Given the description of an element on the screen output the (x, y) to click on. 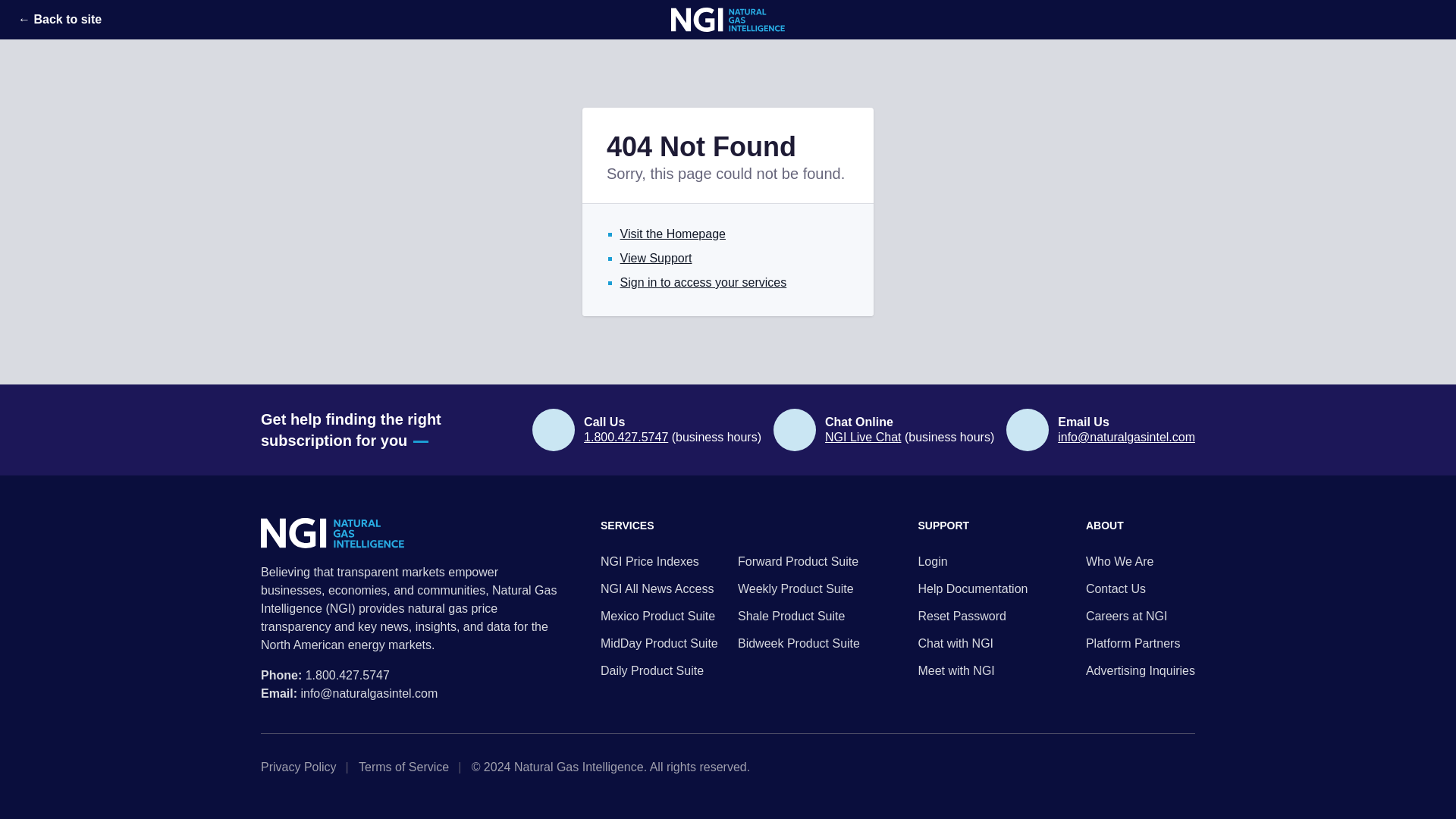
Forward Product Suite (799, 561)
Visit the Homepage (672, 233)
NGI Live Chat (863, 436)
X (1140, 766)
NGI Price Indexes (660, 561)
LinkedIn (1164, 766)
1.800.427.5747 (625, 436)
Facebook (1188, 766)
MidDay Product Suite (660, 643)
Bidweek Product Suite (799, 643)
Reset Password (972, 616)
Chat with NGI (972, 643)
Sign in to access your services (703, 282)
Who We Are (1140, 561)
Terms of Service (408, 766)
